Given the description of an element on the screen output the (x, y) to click on. 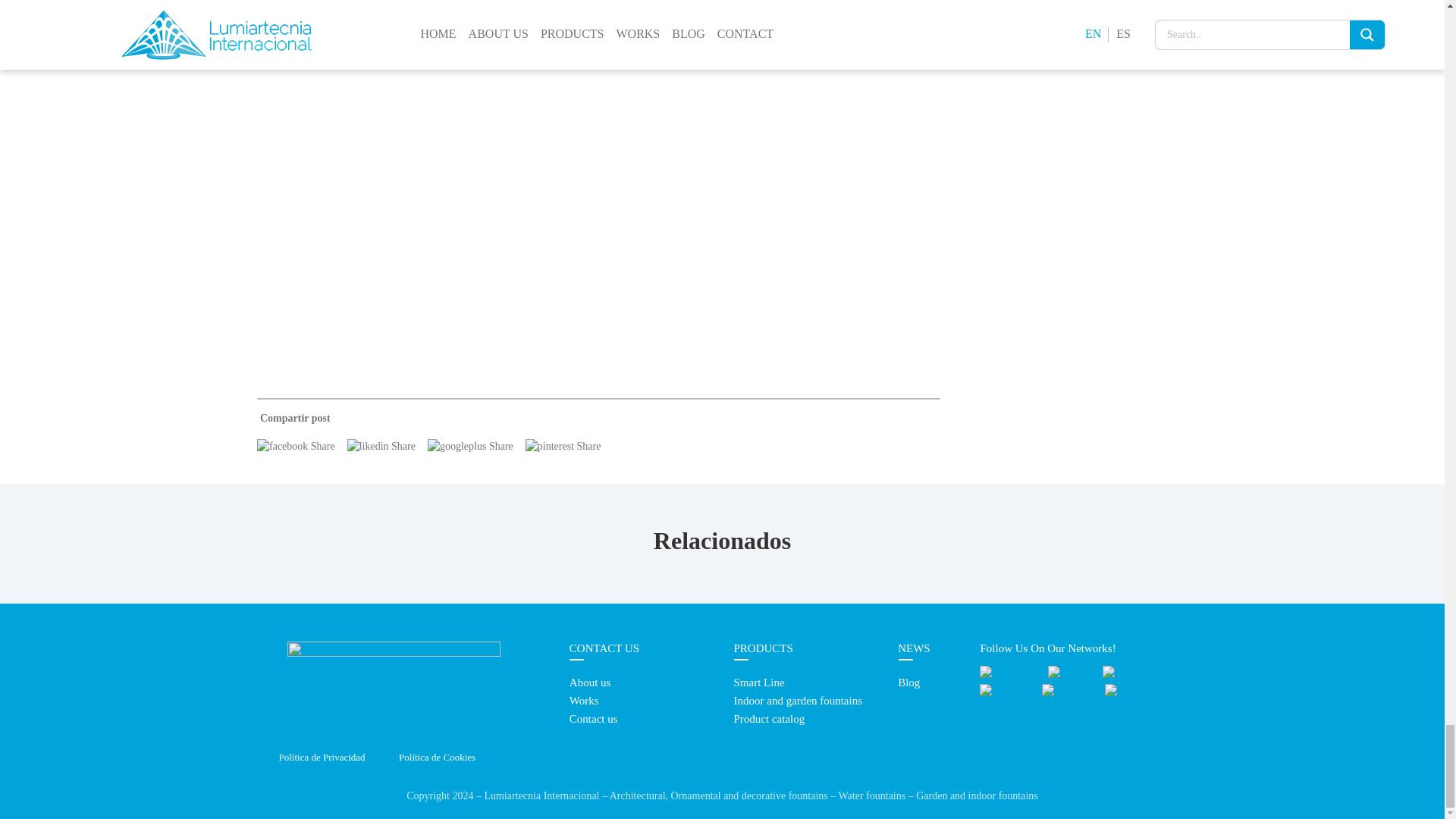
Indoor and garden fountains (797, 700)
Contact us (593, 718)
Works (583, 700)
About us (590, 682)
Smart Line (758, 682)
